Given the description of an element on the screen output the (x, y) to click on. 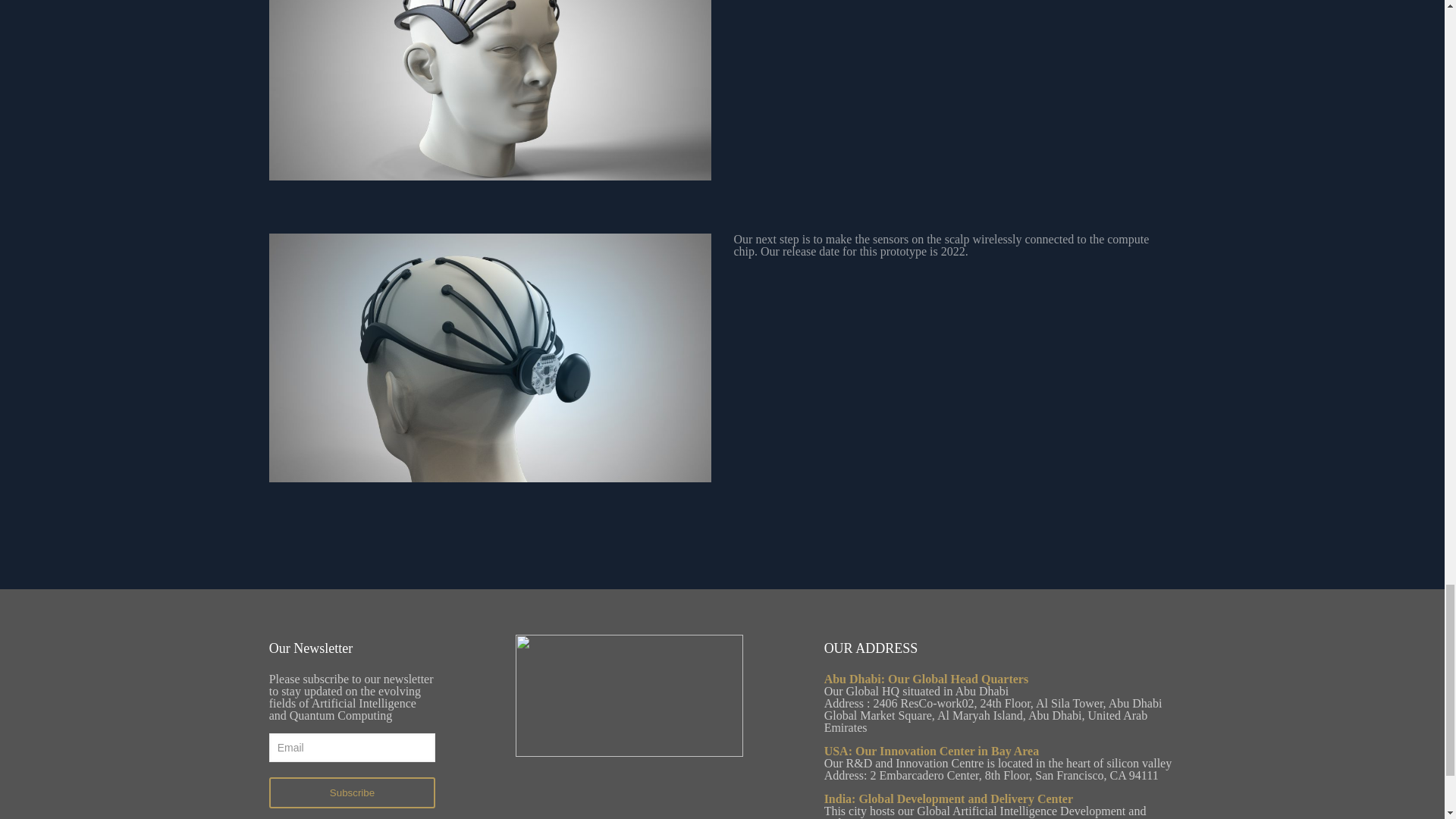
Subscribe (352, 792)
